Given the description of an element on the screen output the (x, y) to click on. 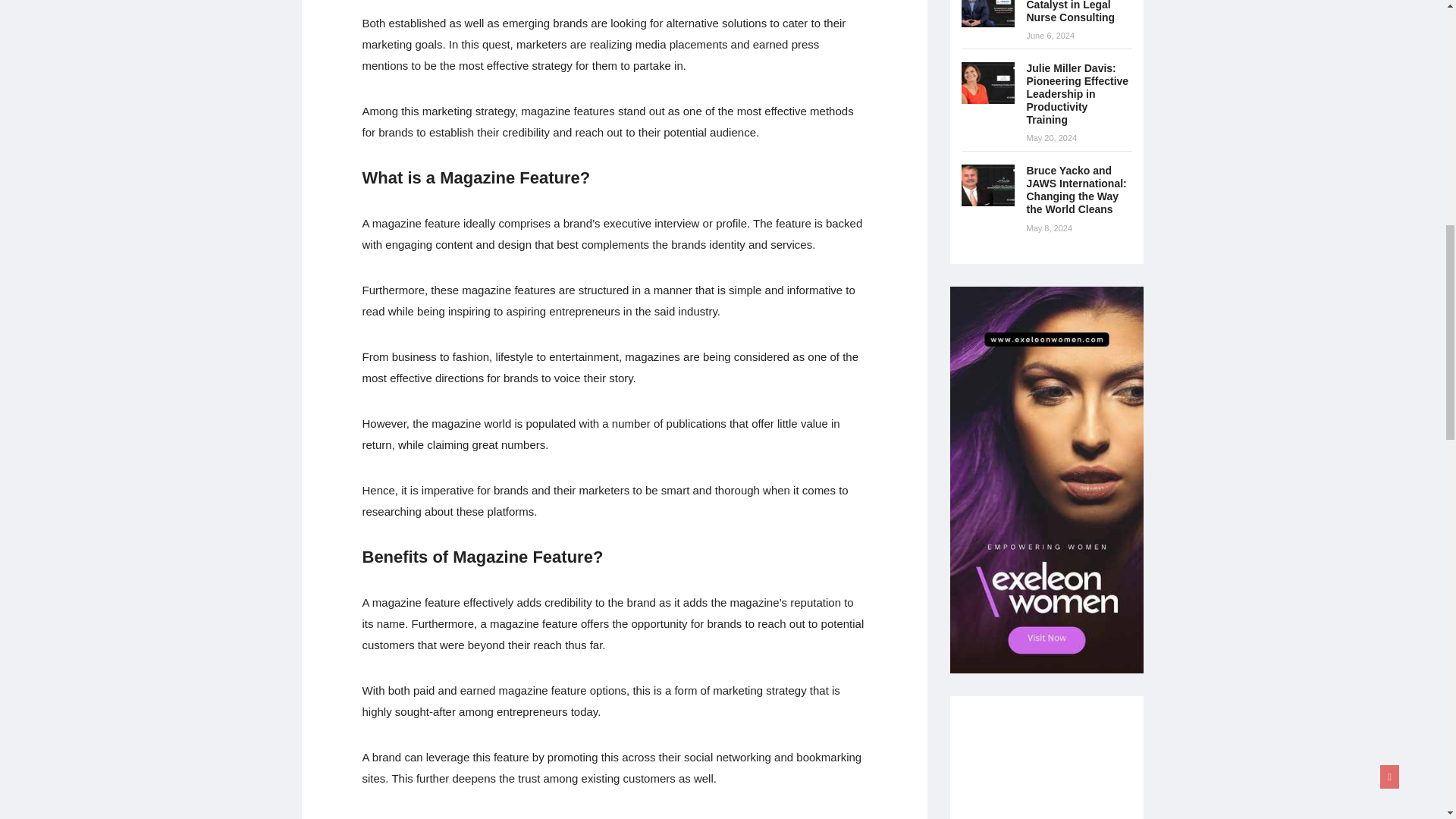
Randy Loveless: A Catalyst in Legal Nurse Consulting (987, 13)
Randy Loveless: A Catalyst in Legal Nurse Consulting (1073, 11)
